Given the description of an element on the screen output the (x, y) to click on. 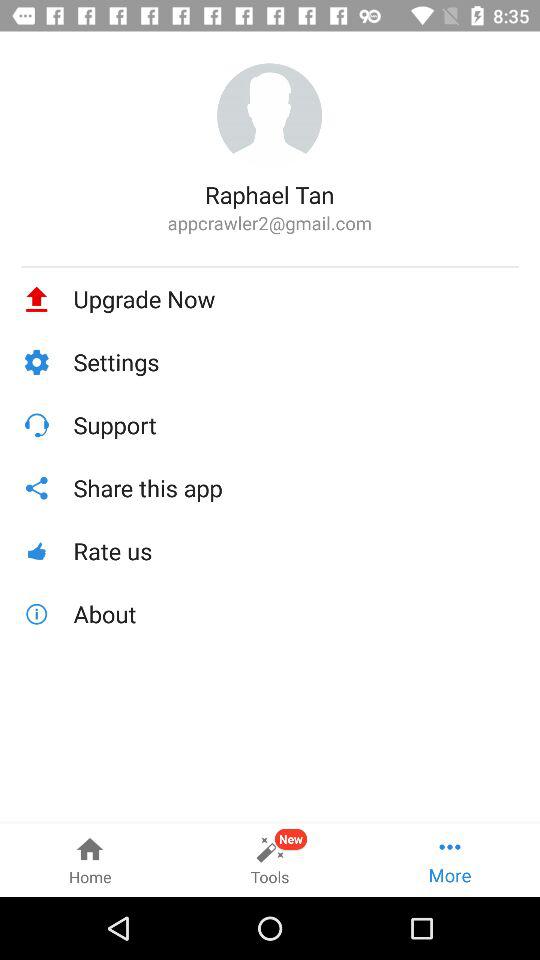
flip until the appcrawler2@gmail.com item (269, 222)
